Given the description of an element on the screen output the (x, y) to click on. 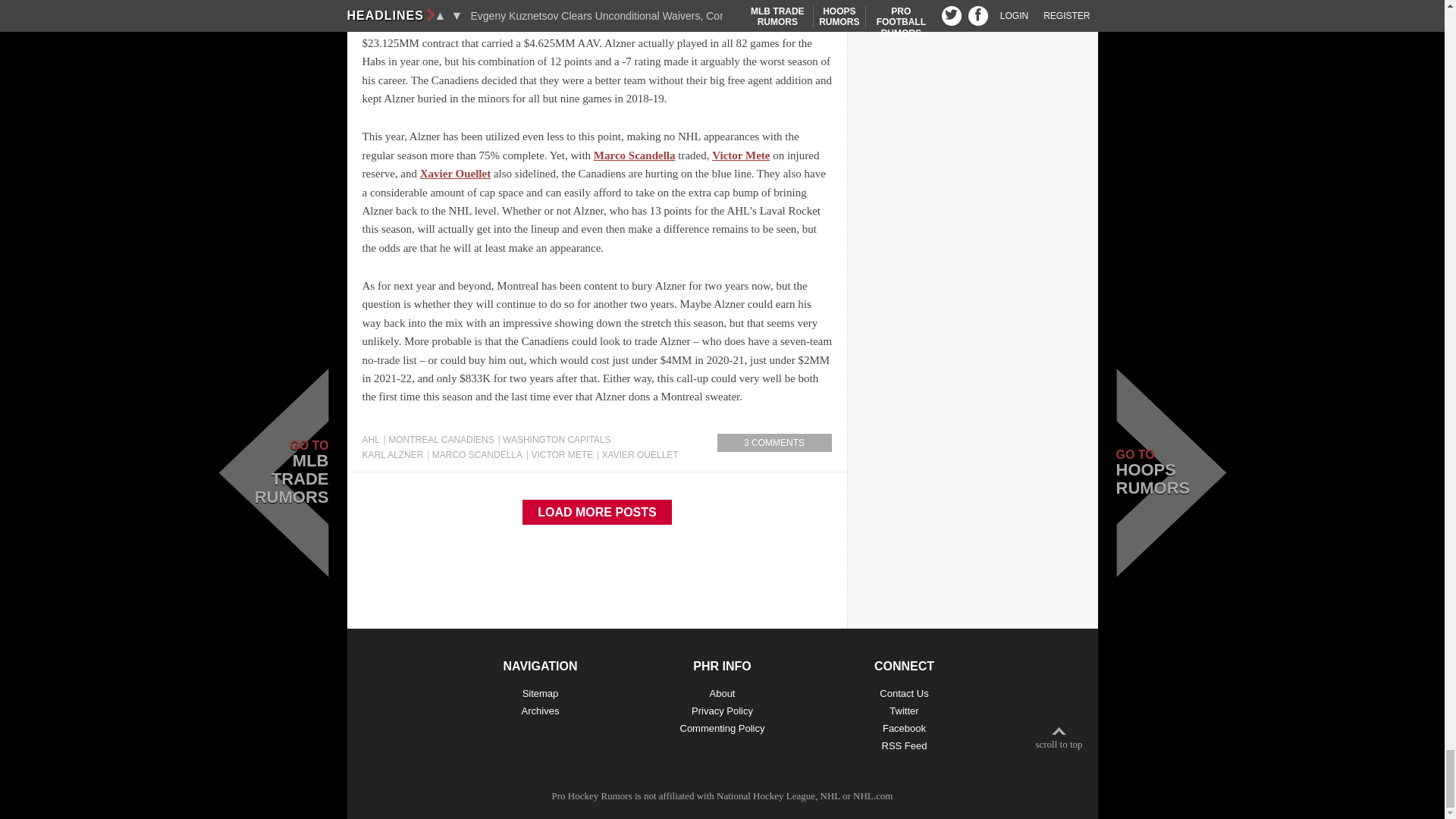
Pro Hockey Rumors (591, 795)
